Given the description of an element on the screen output the (x, y) to click on. 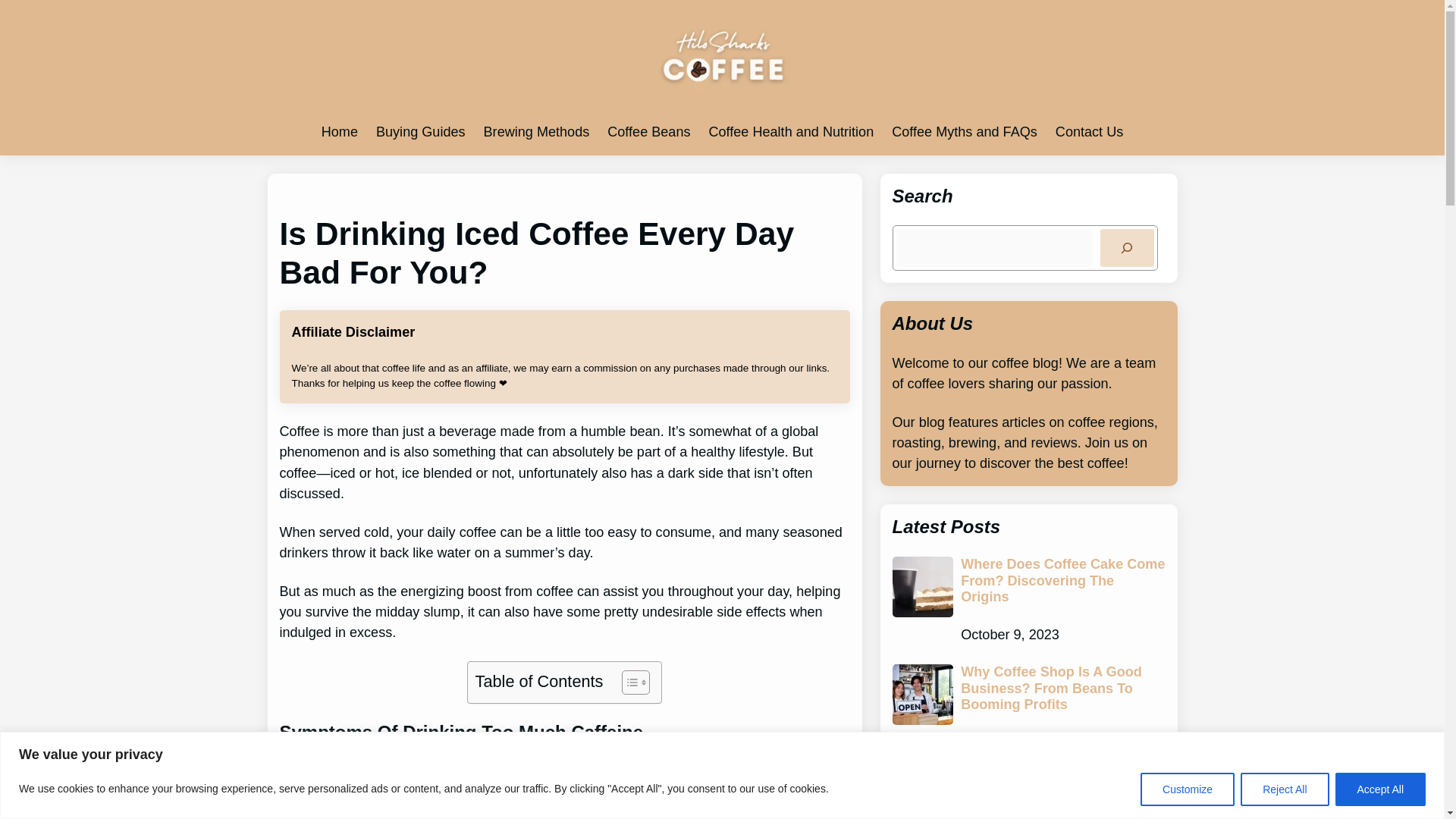
Coffee Beans (648, 132)
Coffee Myths and FAQs (963, 132)
Home (339, 132)
Contact Us (1088, 132)
Brewing Methods (536, 132)
Customize (1187, 788)
Coffee Health and Nutrition (790, 132)
Where Does Coffee Cake Come From? Discovering The Origins (1062, 581)
Accept All (1380, 788)
Reject All (1283, 788)
cold brew, (762, 771)
Buying Guides (420, 132)
